Given the description of an element on the screen output the (x, y) to click on. 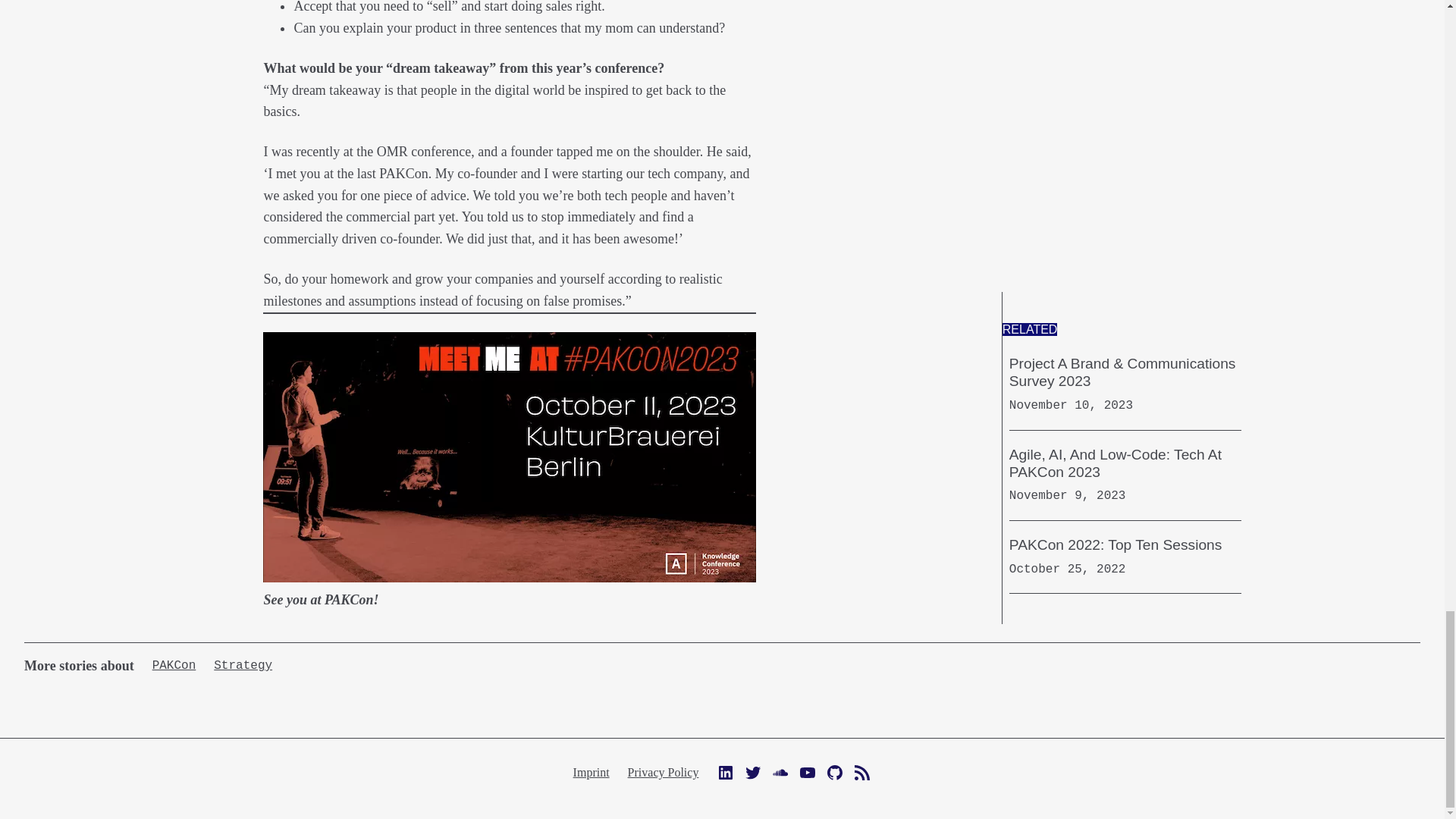
Privacy Policy (662, 771)
Strategy (243, 665)
Soundcloud (780, 772)
YouTube (806, 772)
PAKCon (174, 665)
PAKCon 2022: Top Ten Sessions (1116, 544)
RSS Feed (861, 772)
GitHub (834, 772)
Imprint (591, 771)
LinkedIn (725, 772)
Twitter (752, 772)
Agile, AI, And Low-Code: Tech At PAKCon 2023 (1125, 462)
